Given the description of an element on the screen output the (x, y) to click on. 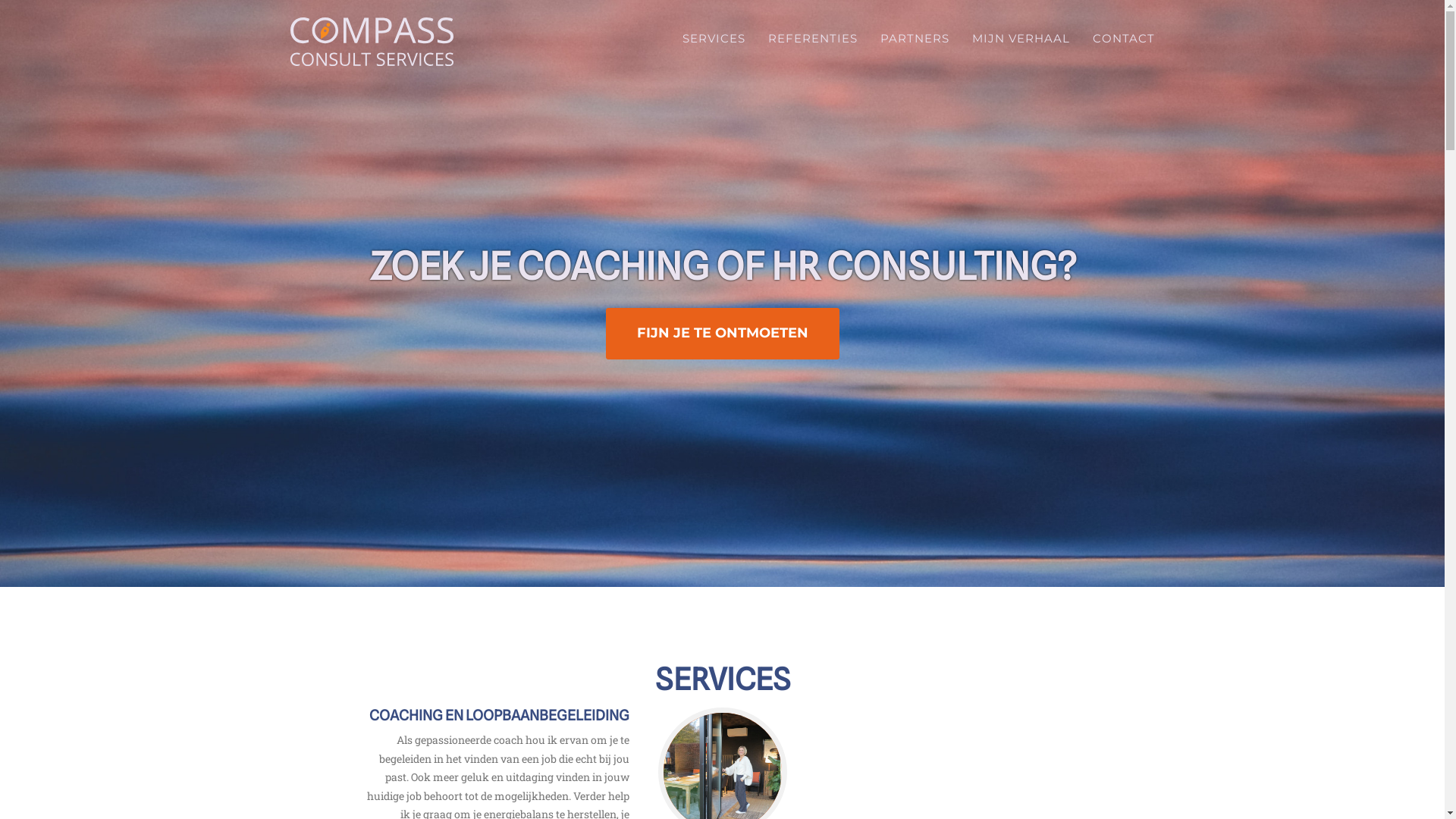
REFERENTIES Element type: text (812, 37)
MIJN VERHAAL Element type: text (1020, 37)
FIJN JE TE ONTMOETEN Element type: text (721, 333)
CONTACT Element type: text (1123, 37)
PARTNERS Element type: text (914, 37)
SERVICES Element type: text (713, 37)
